Given the description of an element on the screen output the (x, y) to click on. 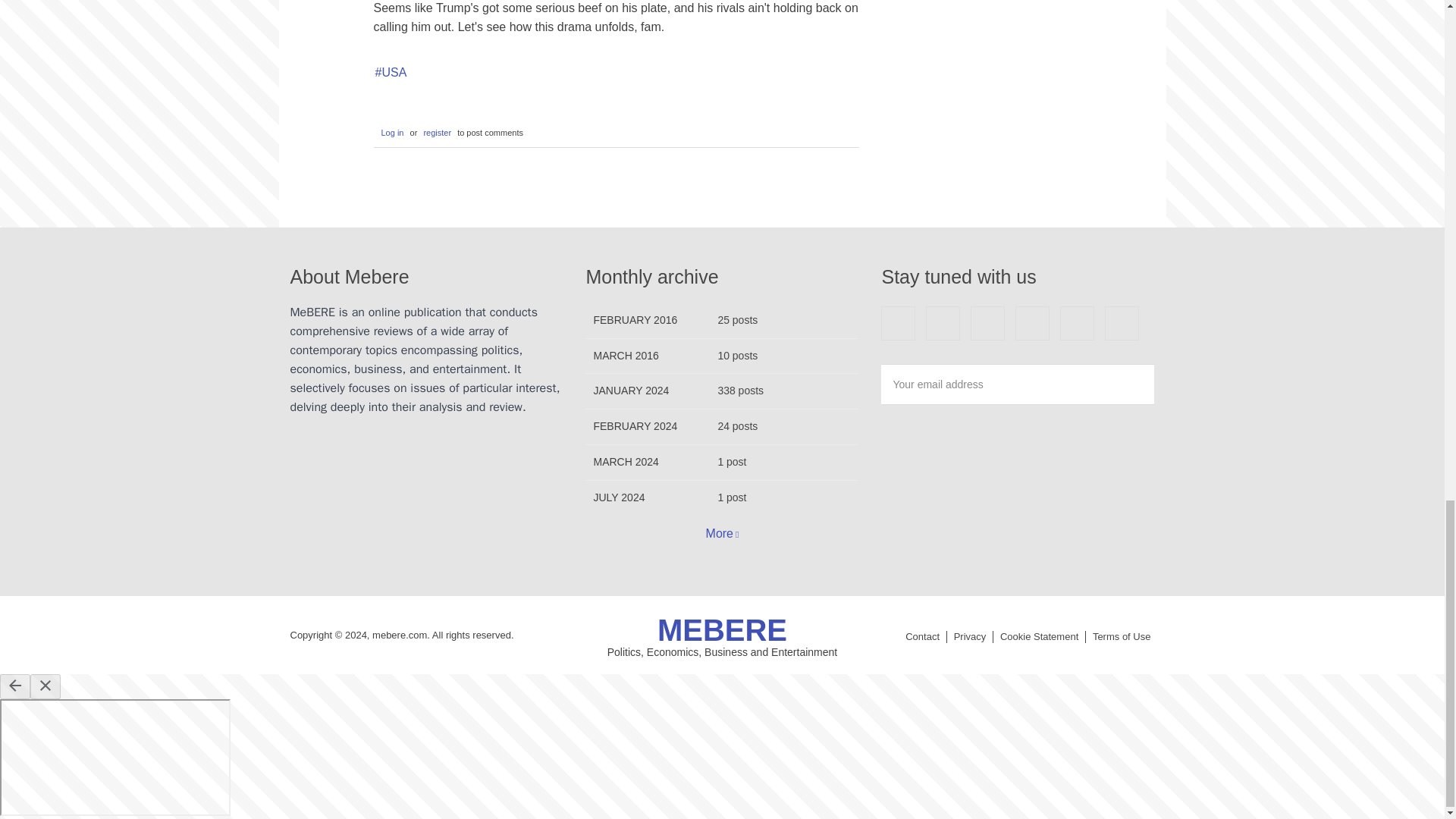
Home (722, 630)
Contact us (922, 636)
USA (389, 72)
Your email address (1017, 383)
register (436, 132)
Log in (389, 132)
